Given the description of an element on the screen output the (x, y) to click on. 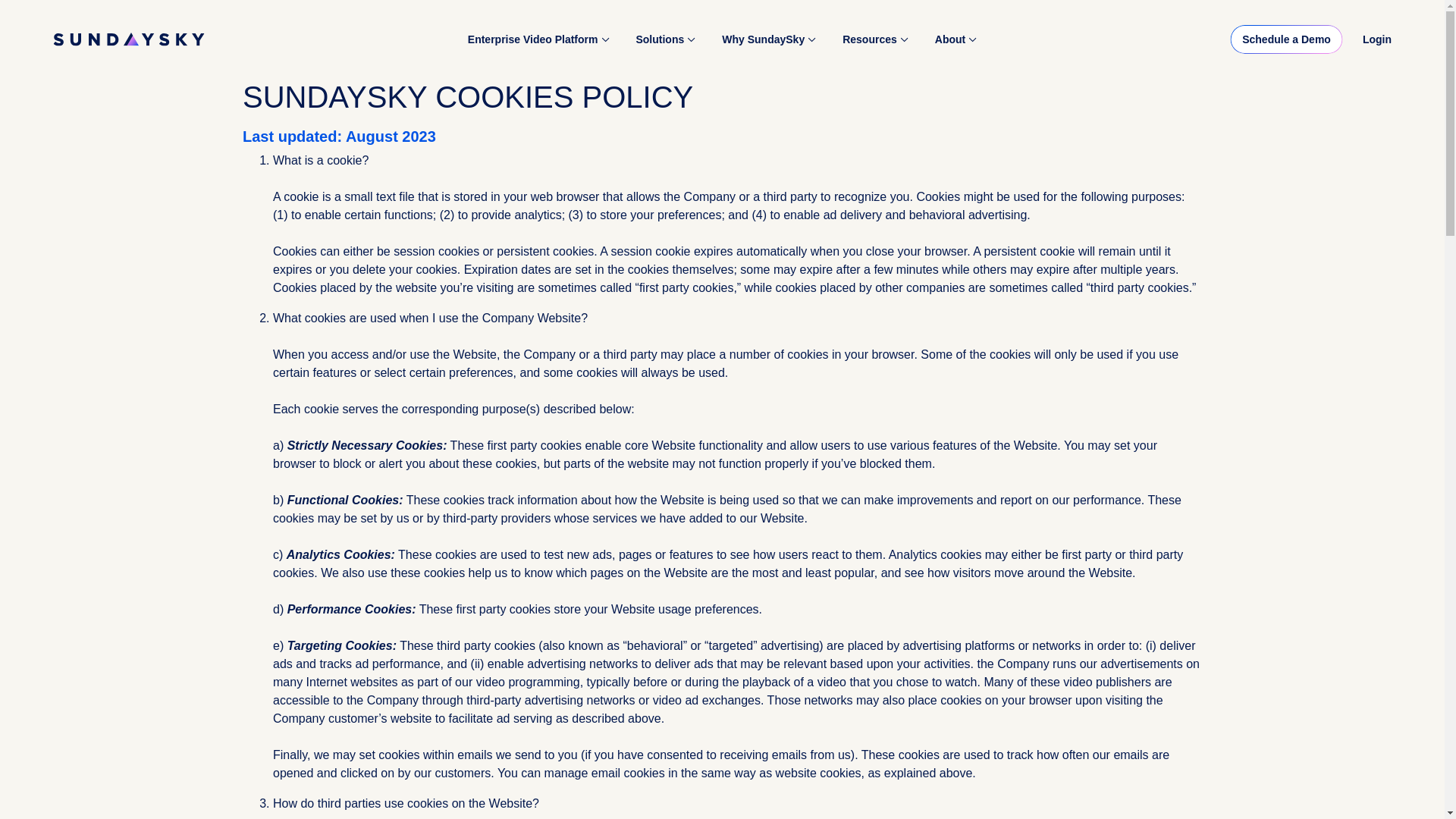
Login (1376, 38)
Enterprise Video Platform (538, 38)
Resources (875, 38)
About (955, 38)
Schedule a Demo (1285, 39)
Solutions (664, 38)
Why SundaySky (768, 38)
